Given the description of an element on the screen output the (x, y) to click on. 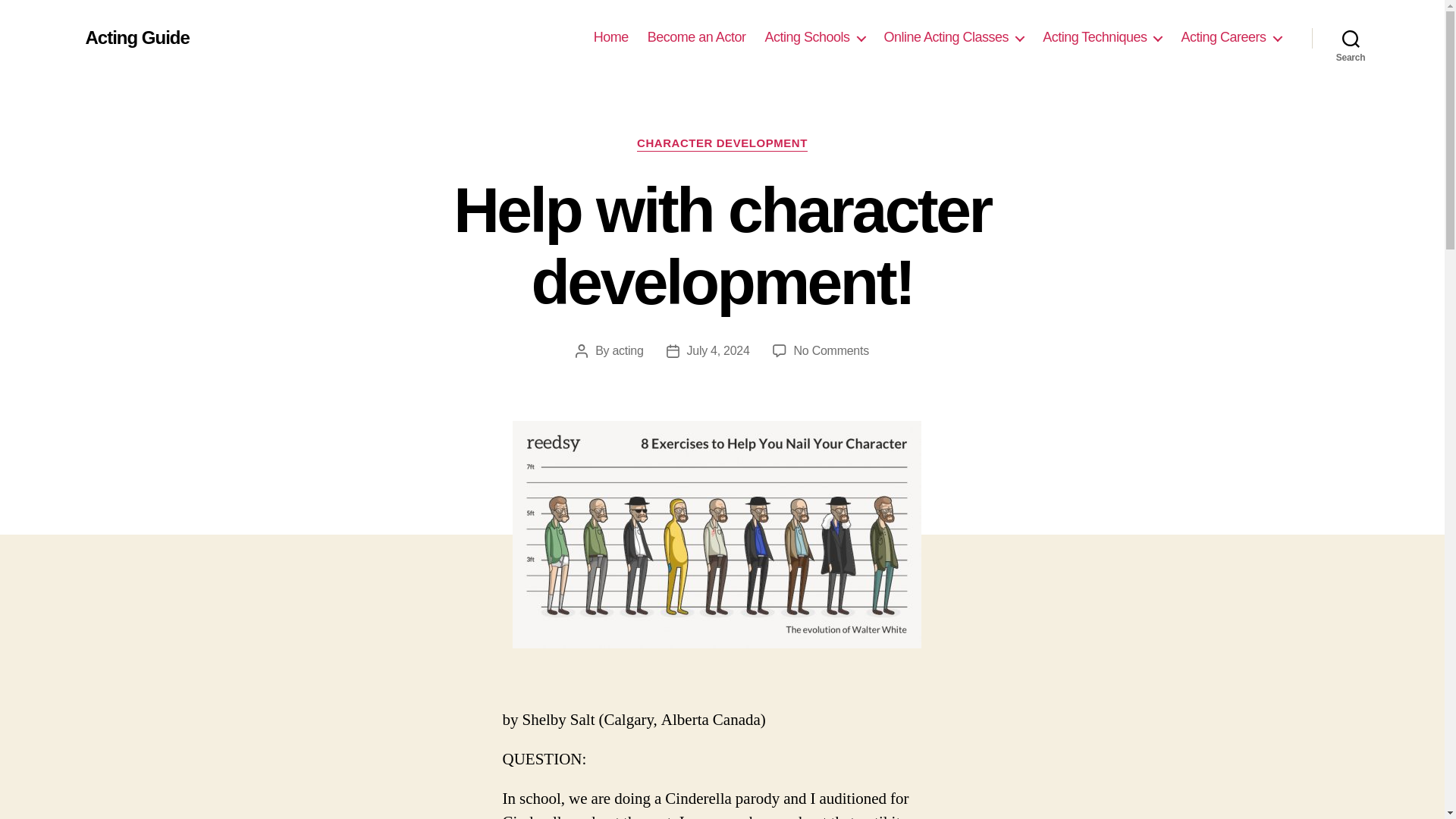
Acting Guide (136, 37)
Acting Schools (814, 37)
Home (611, 37)
Become an Actor (696, 37)
Online Acting Classes (954, 37)
